Given the description of an element on the screen output the (x, y) to click on. 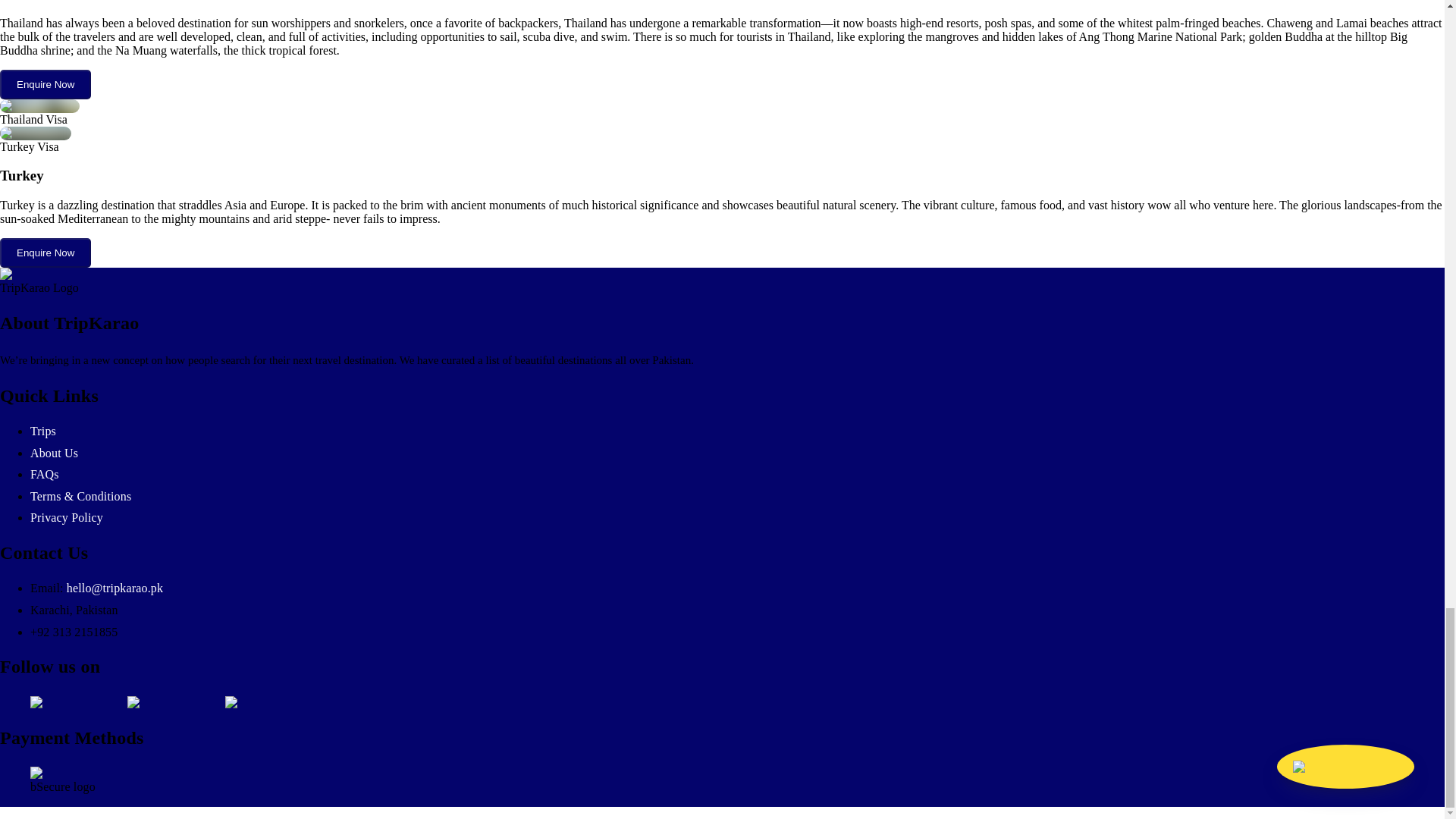
Enquire Now (45, 252)
Enquire Now (45, 251)
Privacy Policy (66, 517)
Enquire Now (45, 83)
About Us (54, 452)
Enquire Now (45, 84)
Trips (43, 431)
FAQs (44, 473)
